Given the description of an element on the screen output the (x, y) to click on. 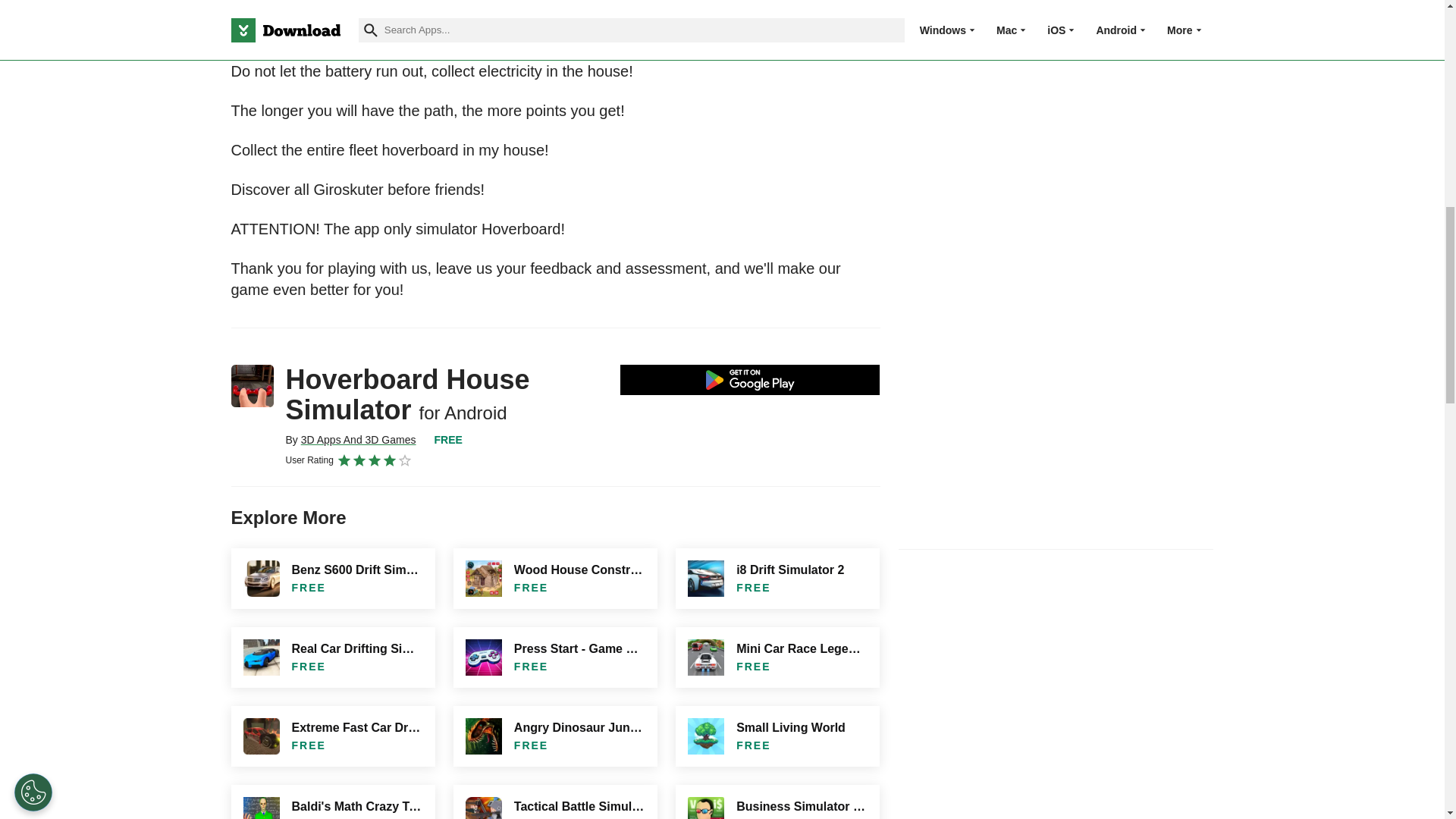
Extreme Fast Car Driving (331, 735)
Business Simulator 3 Clicker (777, 801)
Baldi's Math Crazy Teacher:Basic Classic Party Mod (331, 801)
Benz S600 Drift Simulator (331, 578)
Small Living World (777, 735)
i8 Drift Simulator 2 (777, 578)
Wood House Construction Simulator 2018 (555, 578)
Press Start - Game Nostalgia Clicker (555, 657)
Real Car Drifting Simulator (331, 657)
Get it on Google Play (750, 379)
Mini Car Race Legends (777, 657)
Tactical Battle Simulator (555, 801)
Angry Dinosaur Jungle Hunt: T Rex Simulator (555, 735)
